Given the description of an element on the screen output the (x, y) to click on. 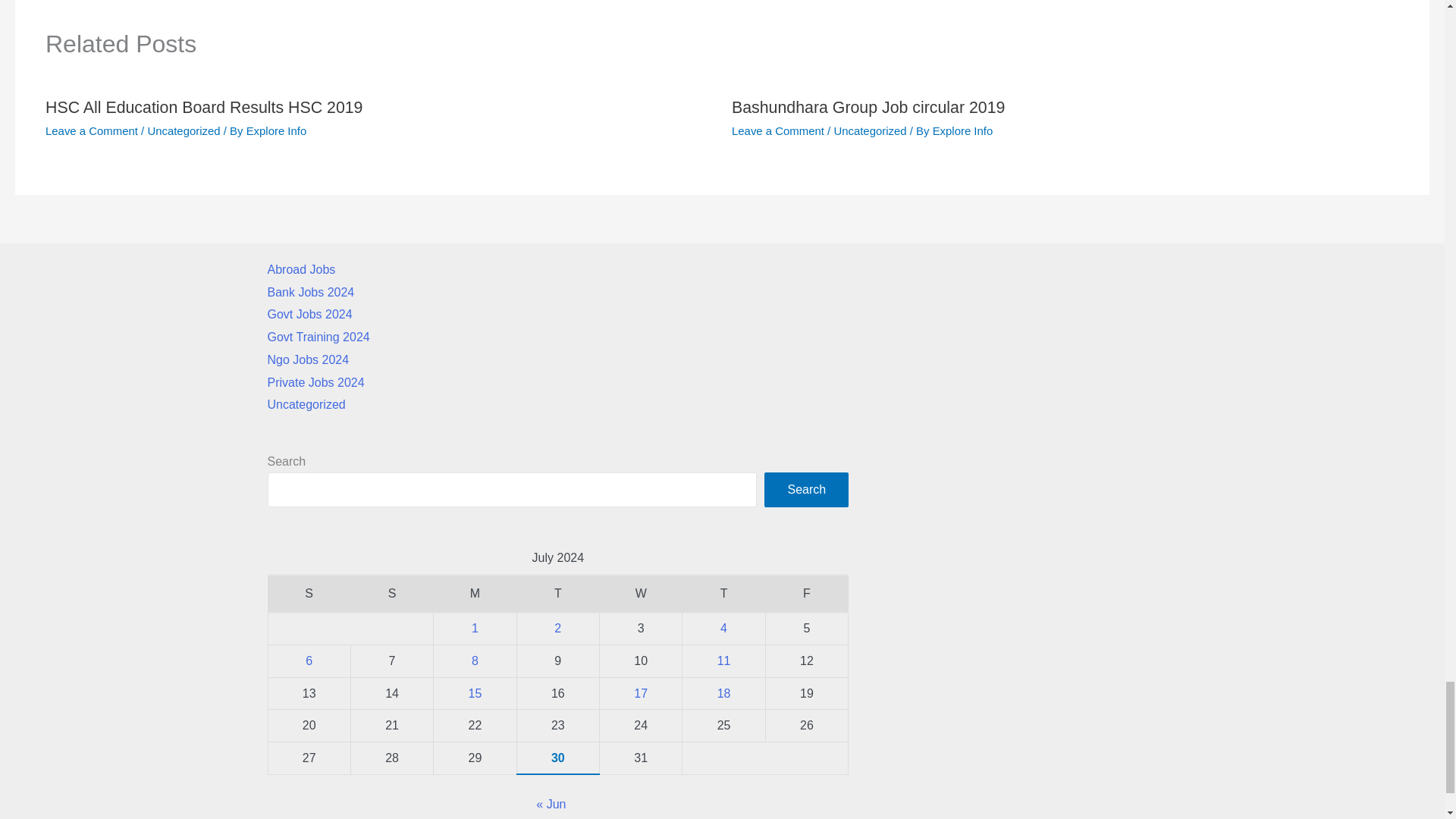
View all posts by Explore Info (276, 130)
Saturday (308, 593)
Bashundhara Group Job circular 2019 (868, 107)
Friday (806, 593)
Sunday (391, 593)
Uncategorized (183, 130)
View all posts by Explore Info (962, 130)
Leave a Comment (778, 130)
Govt Jobs 2024 (309, 314)
Explore Info (276, 130)
Wednesday (639, 593)
Explore Info (962, 130)
HSC All Education Board Results HSC 2019 (203, 107)
Tuesday (557, 593)
Leave a Comment (91, 130)
